Given the description of an element on the screen output the (x, y) to click on. 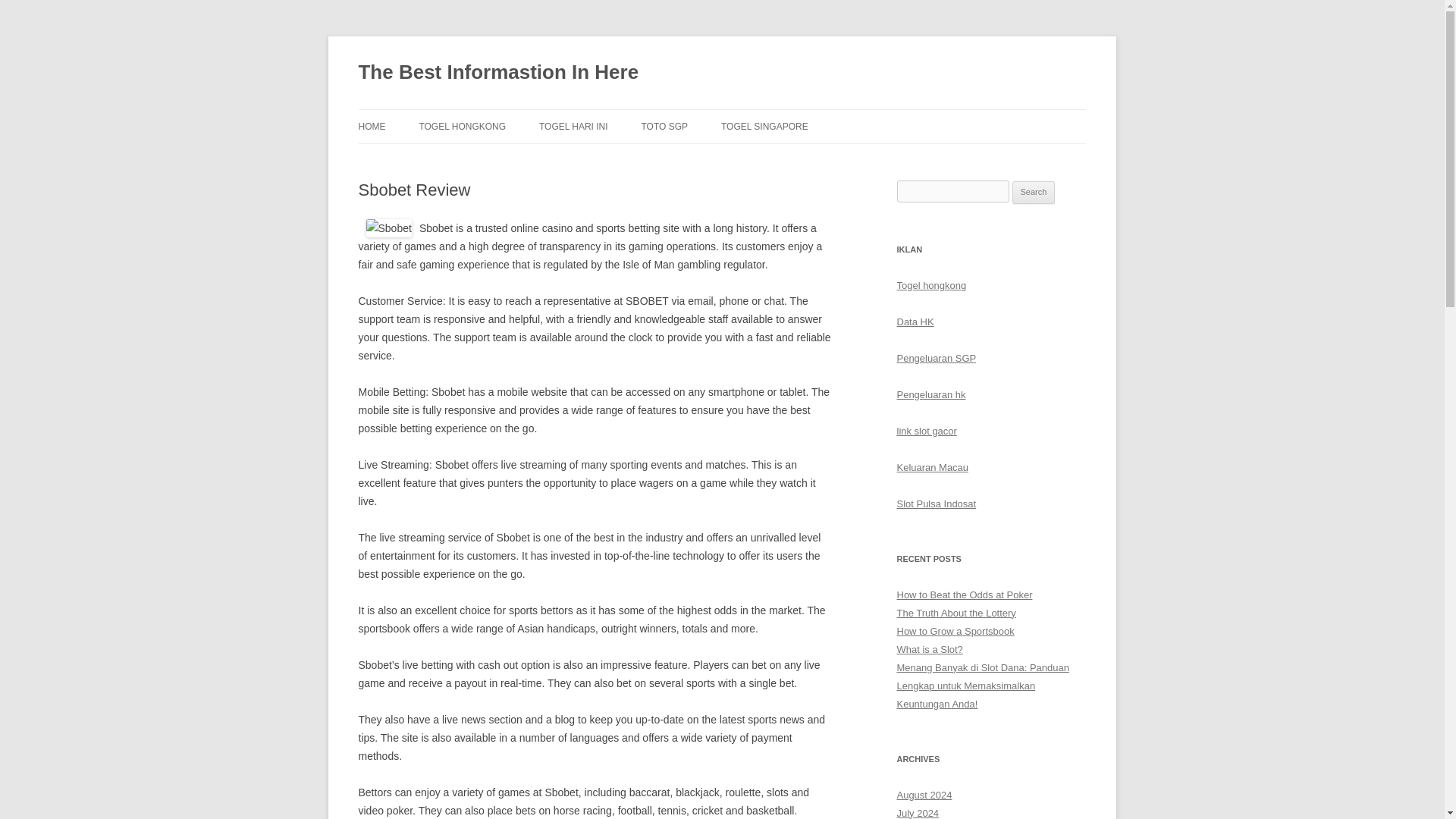
Data HK (914, 321)
TOGEL SINGAPORE (764, 126)
Togel hongkong (931, 285)
July 2024 (917, 813)
Search (1033, 191)
TOGEL HONGKONG (462, 126)
Pengeluaran SGP (935, 357)
How to Grow a Sportsbook (954, 631)
The Truth About the Lottery (955, 613)
